Given the description of an element on the screen output the (x, y) to click on. 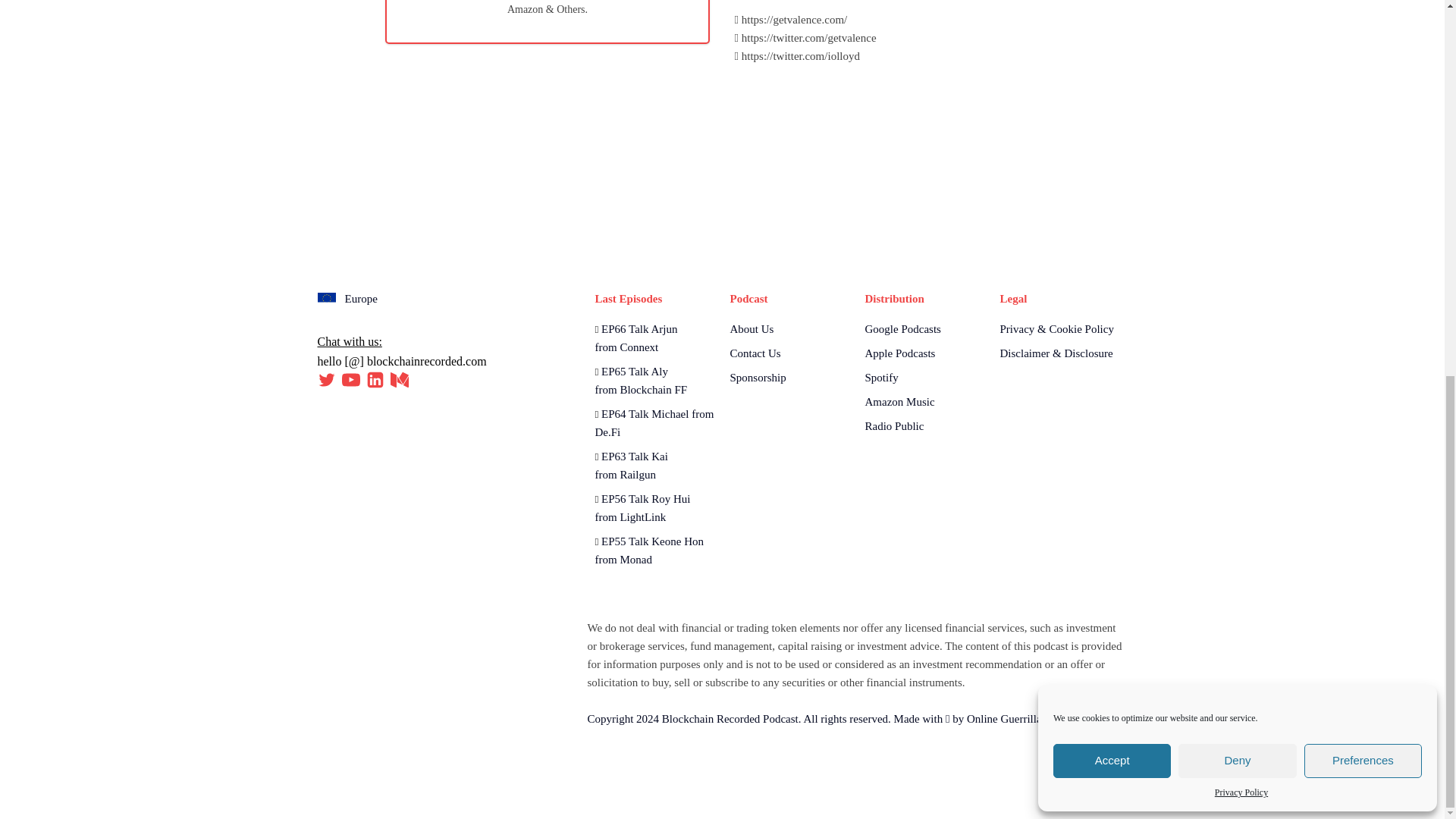
Privacy Policy (1241, 99)
Accept (1111, 67)
Preferences (1363, 67)
Europe (347, 298)
Deny (1236, 67)
